Given the description of an element on the screen output the (x, y) to click on. 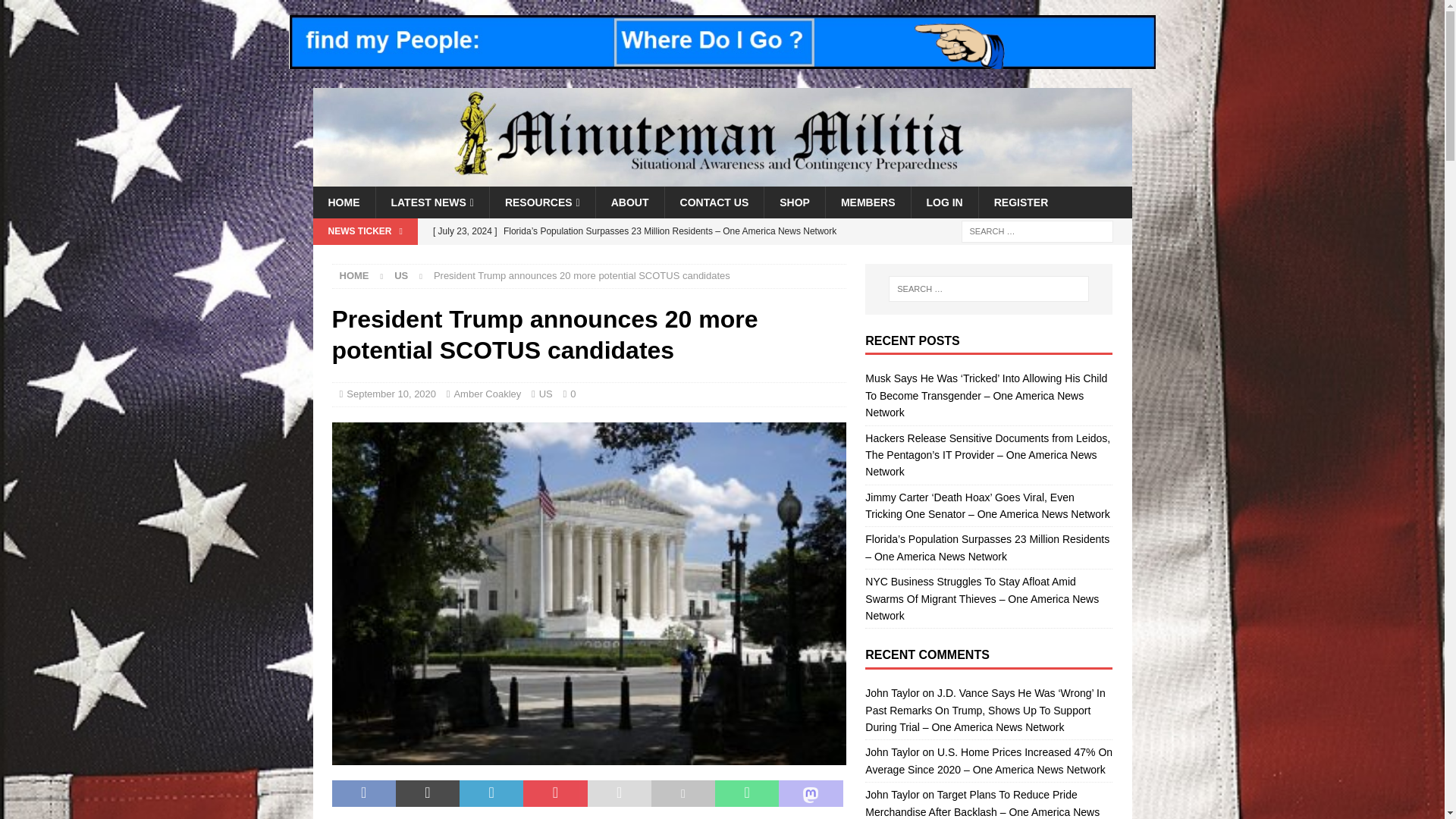
HOME (343, 202)
CONTACT US (713, 202)
LATEST NEWS (430, 202)
Share on Facebook (363, 793)
MEMBERS (868, 202)
Share on LinkedIn (491, 793)
ABOUT (629, 202)
Pin This Post (554, 793)
RESOURCES (542, 202)
Home (354, 275)
Send this article to a friend (619, 793)
US (400, 275)
LOG IN (943, 202)
Tweet This Post (428, 793)
